Given the description of an element on the screen output the (x, y) to click on. 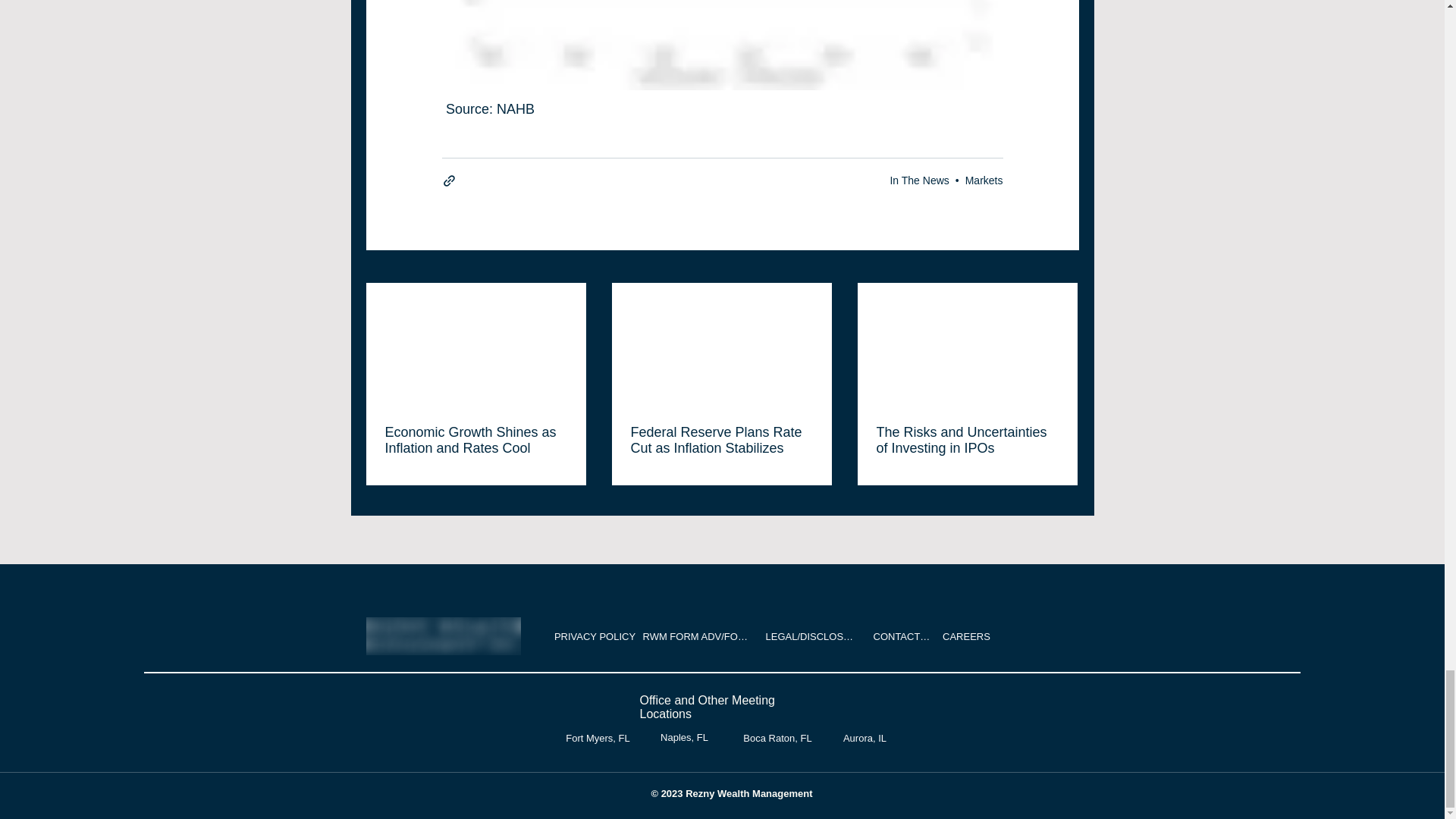
In The News (919, 180)
transparent word logo.png (442, 636)
The Risks and Uncertainties of Investing in IPOs (967, 440)
Markets (984, 180)
Federal Reserve Plans Rate Cut as Inflation Stabilizes (721, 440)
PRIVACY POLICY (596, 636)
Economic Growth Shines as Inflation and Rates Cool (476, 440)
